Given the description of an element on the screen output the (x, y) to click on. 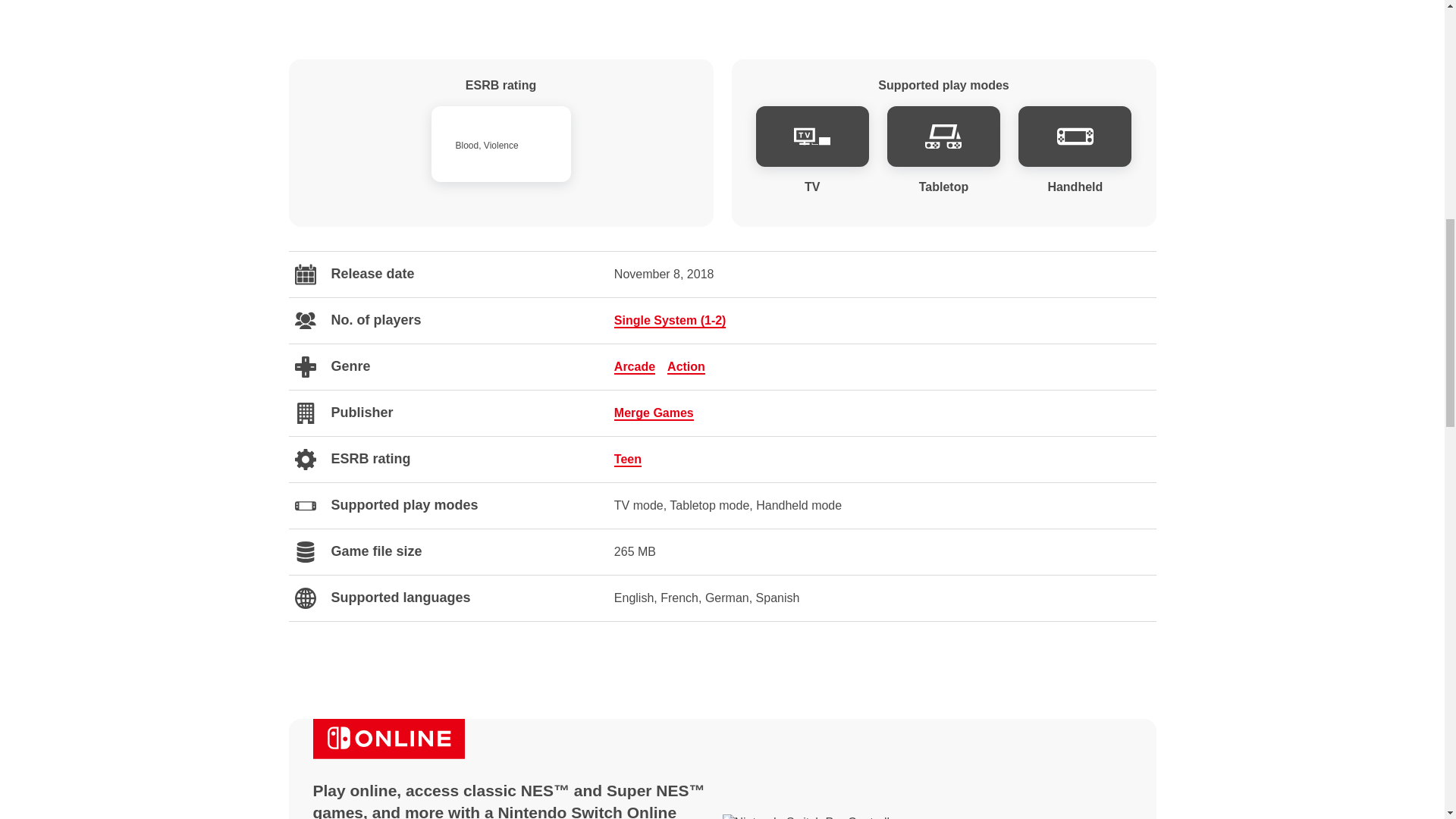
Blood, Violence (500, 143)
